Given the description of an element on the screen output the (x, y) to click on. 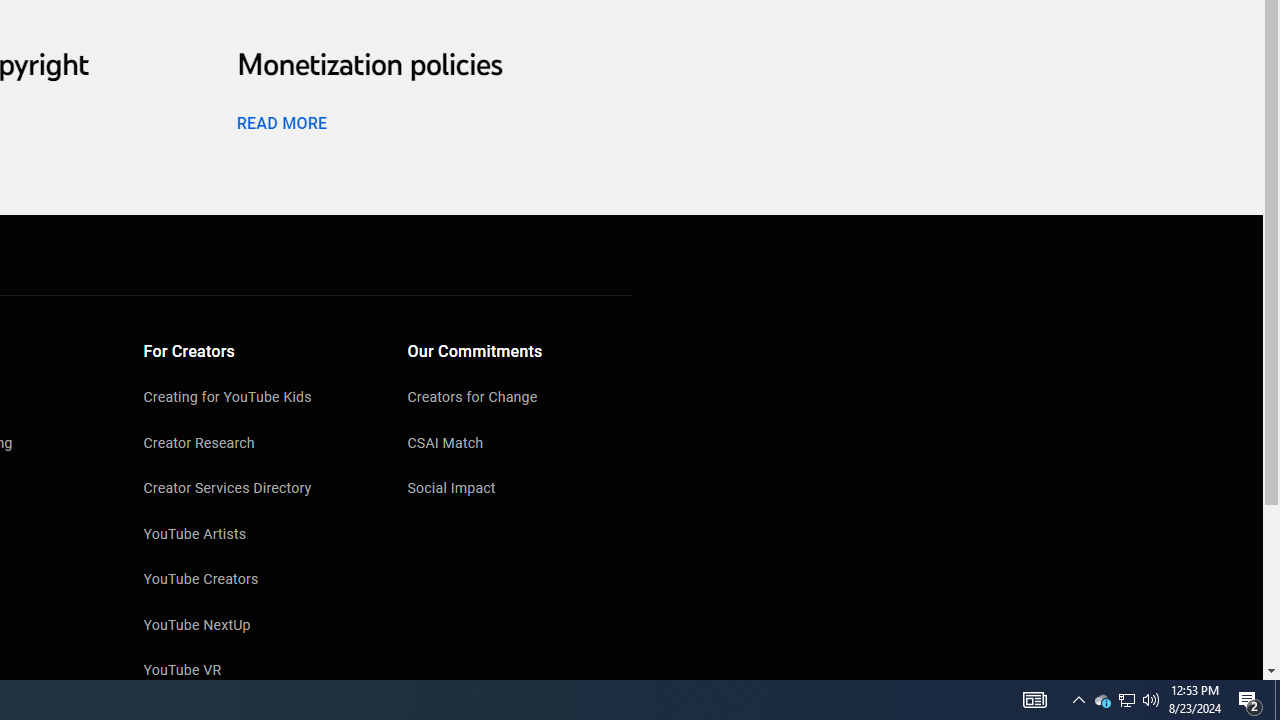
CSAI Match (519, 444)
YouTube Creators (255, 581)
Creator Services Directory (255, 490)
YouTube VR (255, 672)
Creating for YouTube Kids (255, 399)
Creator Research (255, 444)
Social Impact (519, 490)
YouTube NextUp (255, 627)
YouTube Artists (255, 535)
READ MORE (281, 123)
Creators for Change (519, 399)
